Given the description of an element on the screen output the (x, y) to click on. 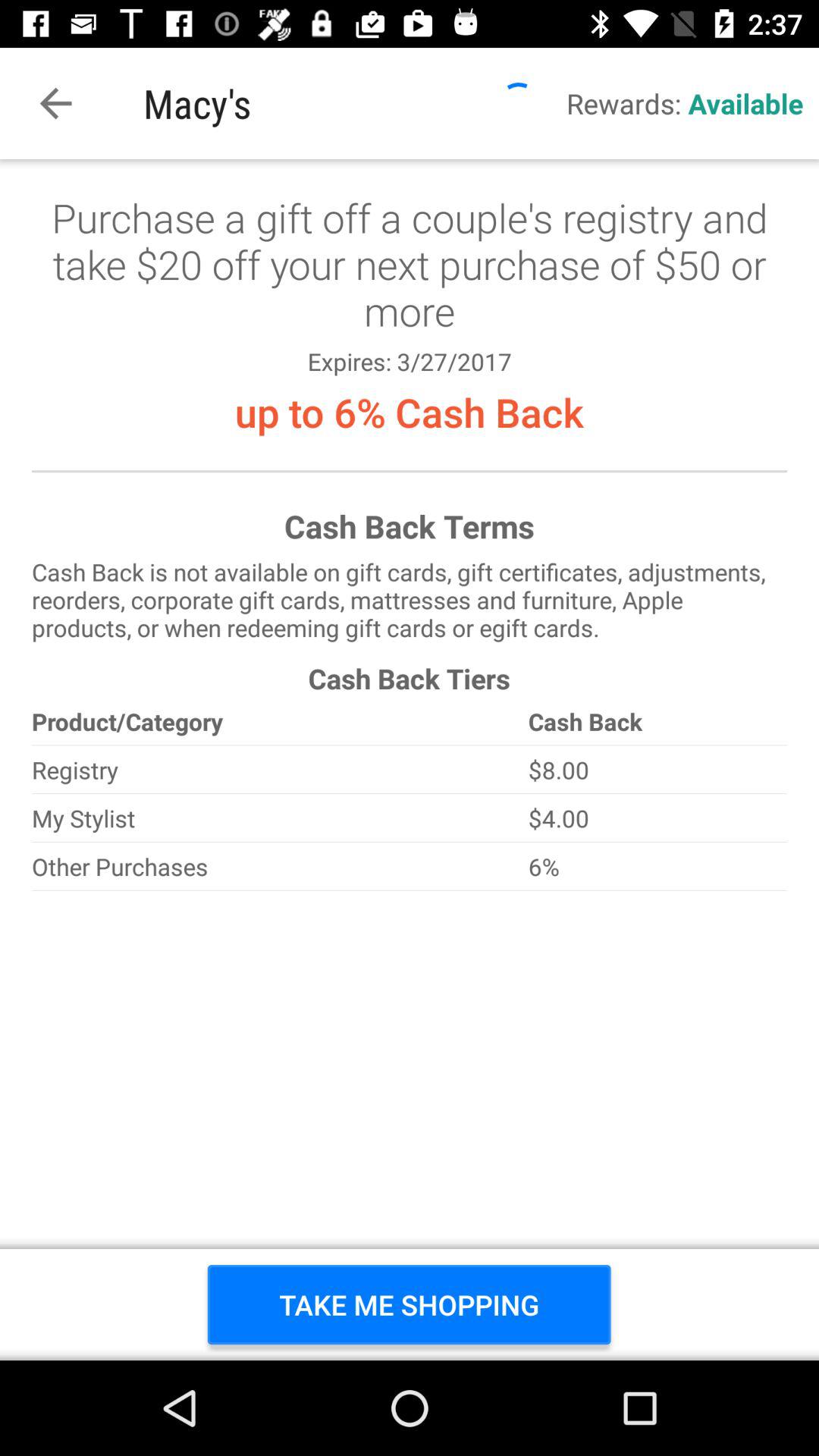
purchase page (409, 759)
